Given the description of an element on the screen output the (x, y) to click on. 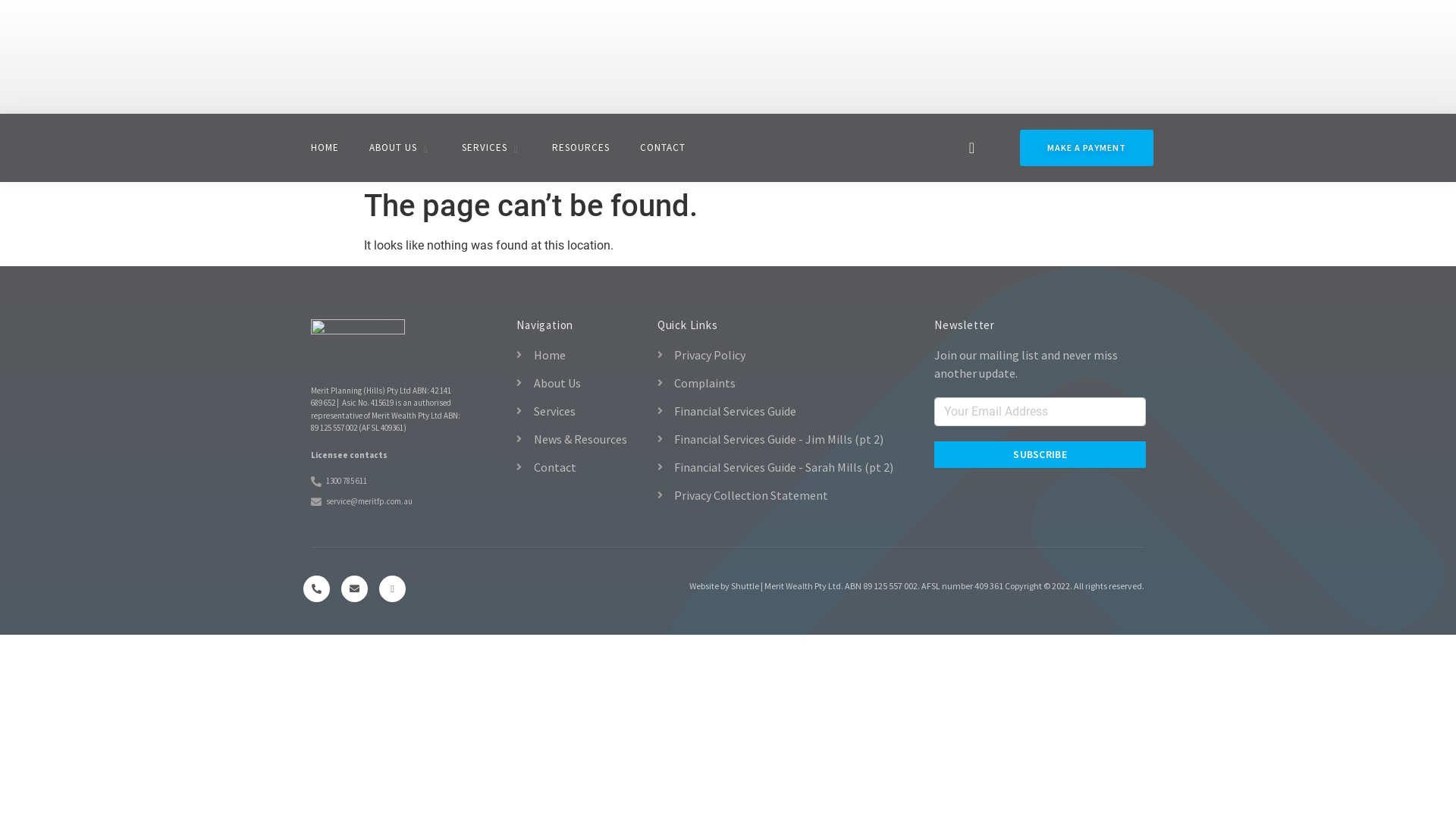
Website by Shuttle Element type: text (724, 585)
Financial Services Guide - Sarah Mills (pt 2) Element type: text (776, 467)
Services Element type: text (579, 410)
SUBSCRIBE Element type: text (1039, 454)
1300 785 611 Element type: text (394, 481)
RESOURCES Element type: text (580, 147)
Privacy Collection Statement Element type: text (776, 495)
Privacy Policy Element type: text (776, 354)
SERVICES Element type: text (491, 147)
Contact Element type: text (579, 467)
News & Resources Element type: text (579, 438)
HOME Element type: text (324, 147)
CONTACT Element type: text (662, 147)
Financial Services Guide Element type: text (776, 410)
About Us Element type: text (579, 382)
ABOUT US Element type: text (400, 147)
Home Element type: text (579, 354)
service@meritfp.com.au Element type: text (394, 501)
Complaints Element type: text (776, 382)
MAKE A PAYMENT Element type: text (1086, 147)
Financial Services Guide - Jim Mills (pt 2) Element type: text (776, 438)
